Given the description of an element on the screen output the (x, y) to click on. 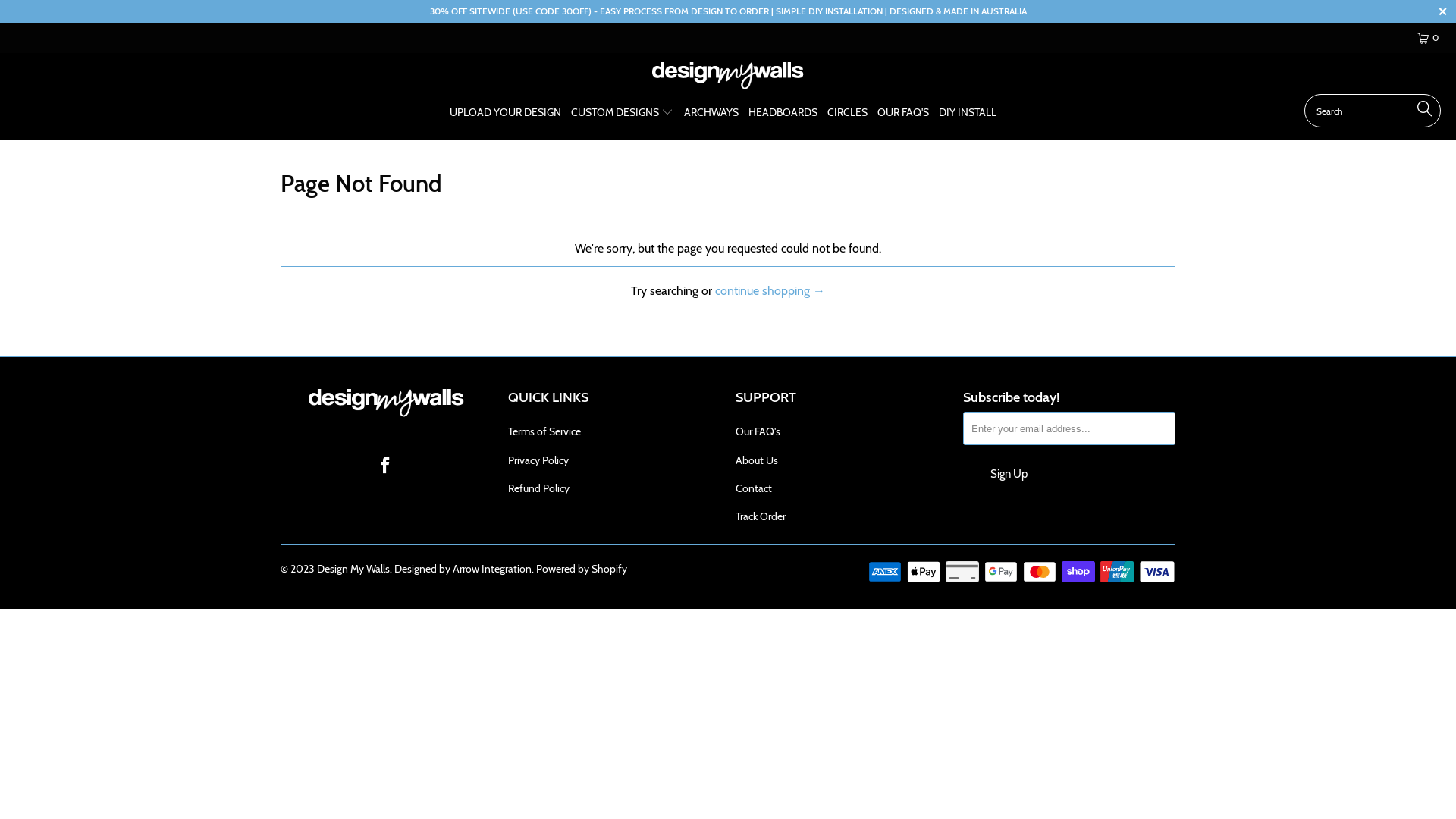
About Us Element type: text (756, 460)
OUR FAQ'S Element type: text (902, 113)
Contact Element type: text (753, 488)
ARCHWAYS Element type: text (711, 113)
Design My Walls Element type: text (352, 568)
Terms of Service Element type: text (544, 431)
Sign Up Element type: text (1008, 473)
CIRCLES Element type: text (847, 113)
Privacy Policy Element type: text (538, 460)
Designed by Arrow Integration Element type: text (462, 568)
HEADBOARDS Element type: text (782, 113)
Design My Walls Element type: hover (728, 77)
UPLOAD YOUR DESIGN Element type: text (505, 113)
Powered by Shopify Element type: text (581, 568)
Our FAQ's Element type: text (757, 431)
Refund Policy Element type: text (538, 488)
DIY INSTALL Element type: text (967, 113)
Design My Walls on Facebook Element type: hover (385, 466)
Track Order Element type: text (760, 516)
